Given the description of an element on the screen output the (x, y) to click on. 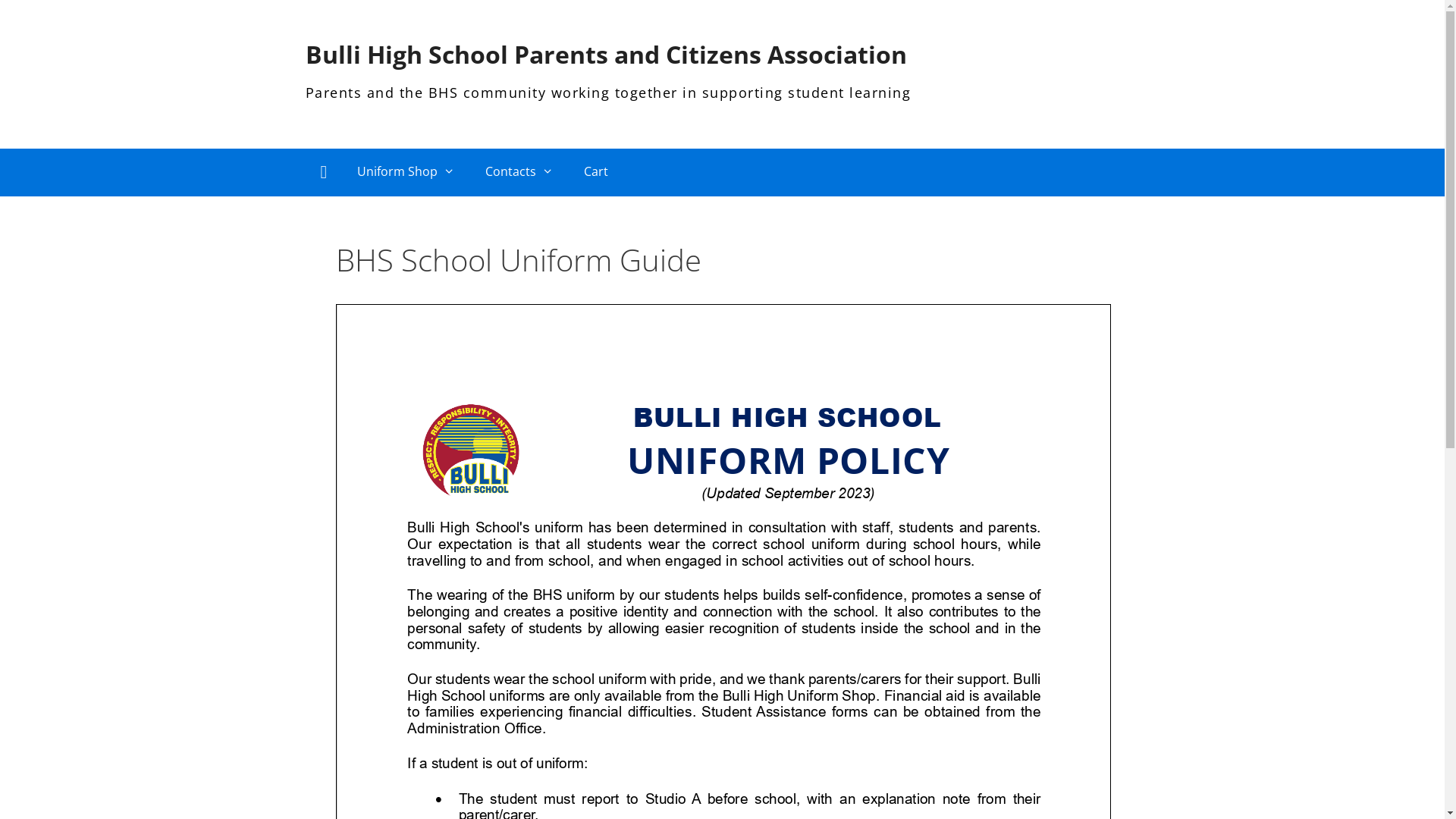
Bulli High School Parents and Citizens Association Element type: text (605, 53)
Uniform Shop Element type: text (406, 171)
Contacts Element type: text (519, 171)
Cart Element type: text (595, 171)
